Given the description of an element on the screen output the (x, y) to click on. 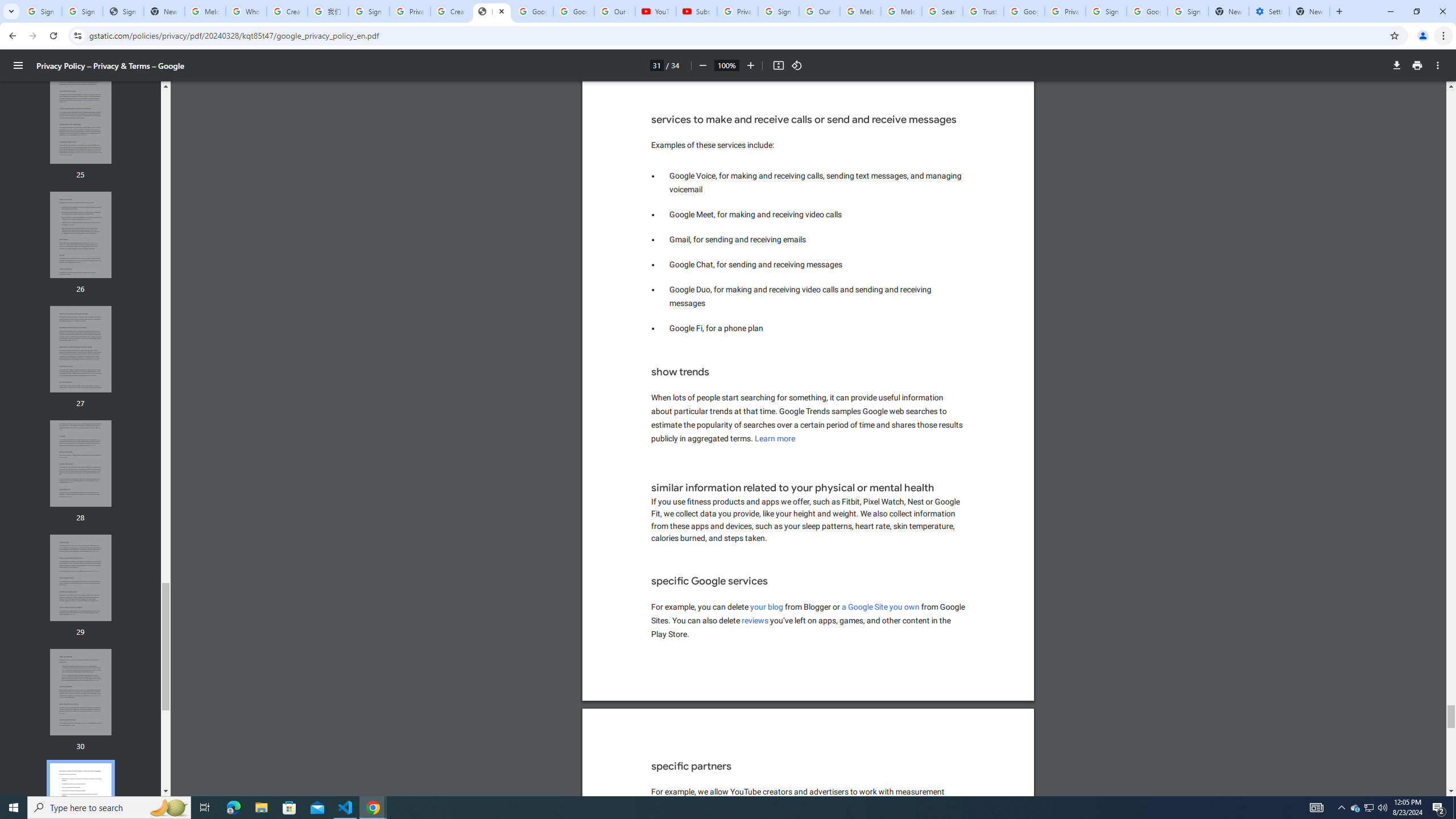
Subscriptions - YouTube (696, 11)
Page number (656, 64)
Trusted Information and Content - Google Safety Center (983, 11)
Google Cybersecurity Innovations - Google Safety Center (1146, 11)
Settings - Addresses and more (1268, 11)
a Google Site you own (880, 606)
Sign in - Google Accounts (368, 11)
